Given the description of an element on the screen output the (x, y) to click on. 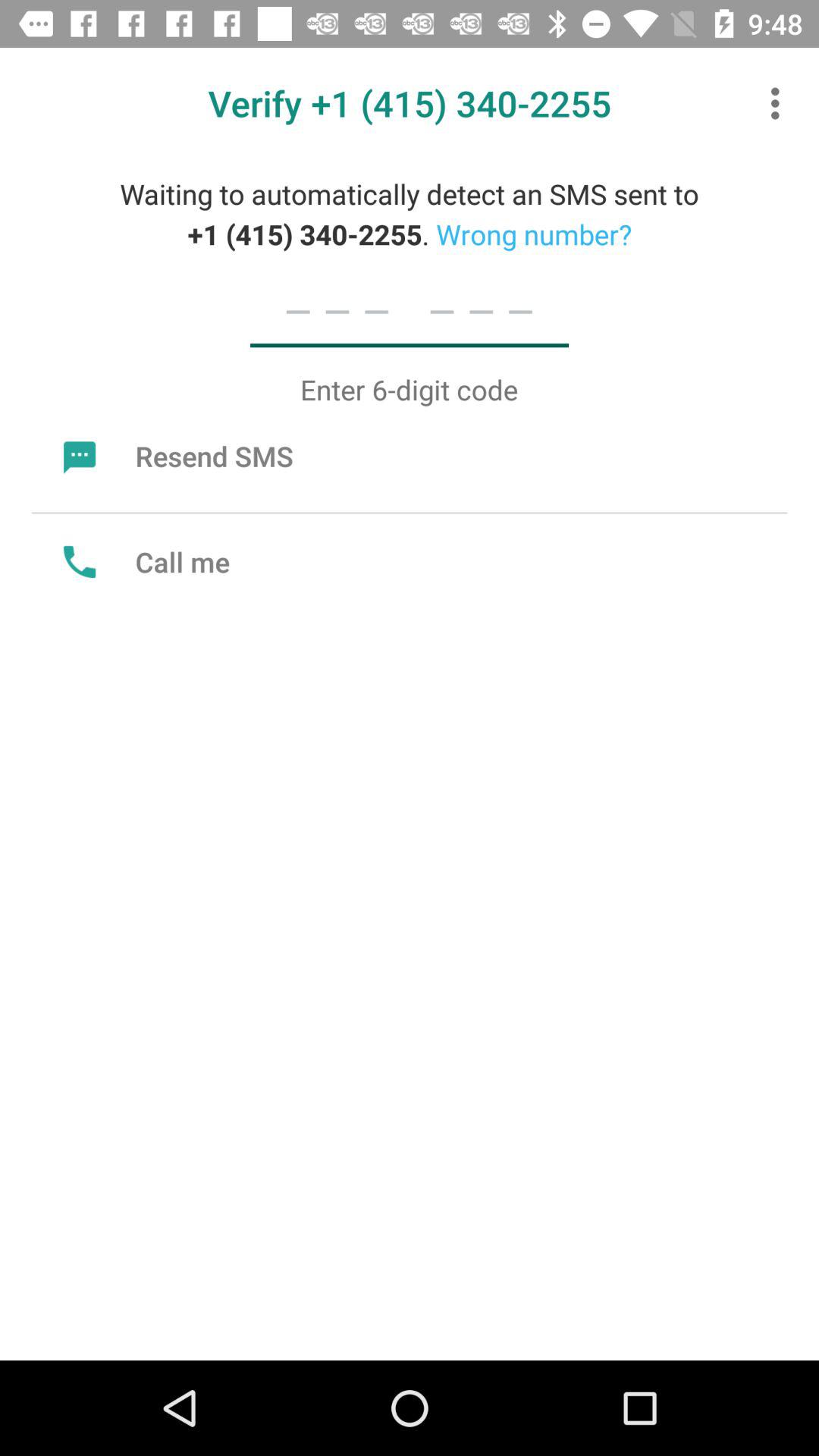
flip until the call me item (142, 561)
